Given the description of an element on the screen output the (x, y) to click on. 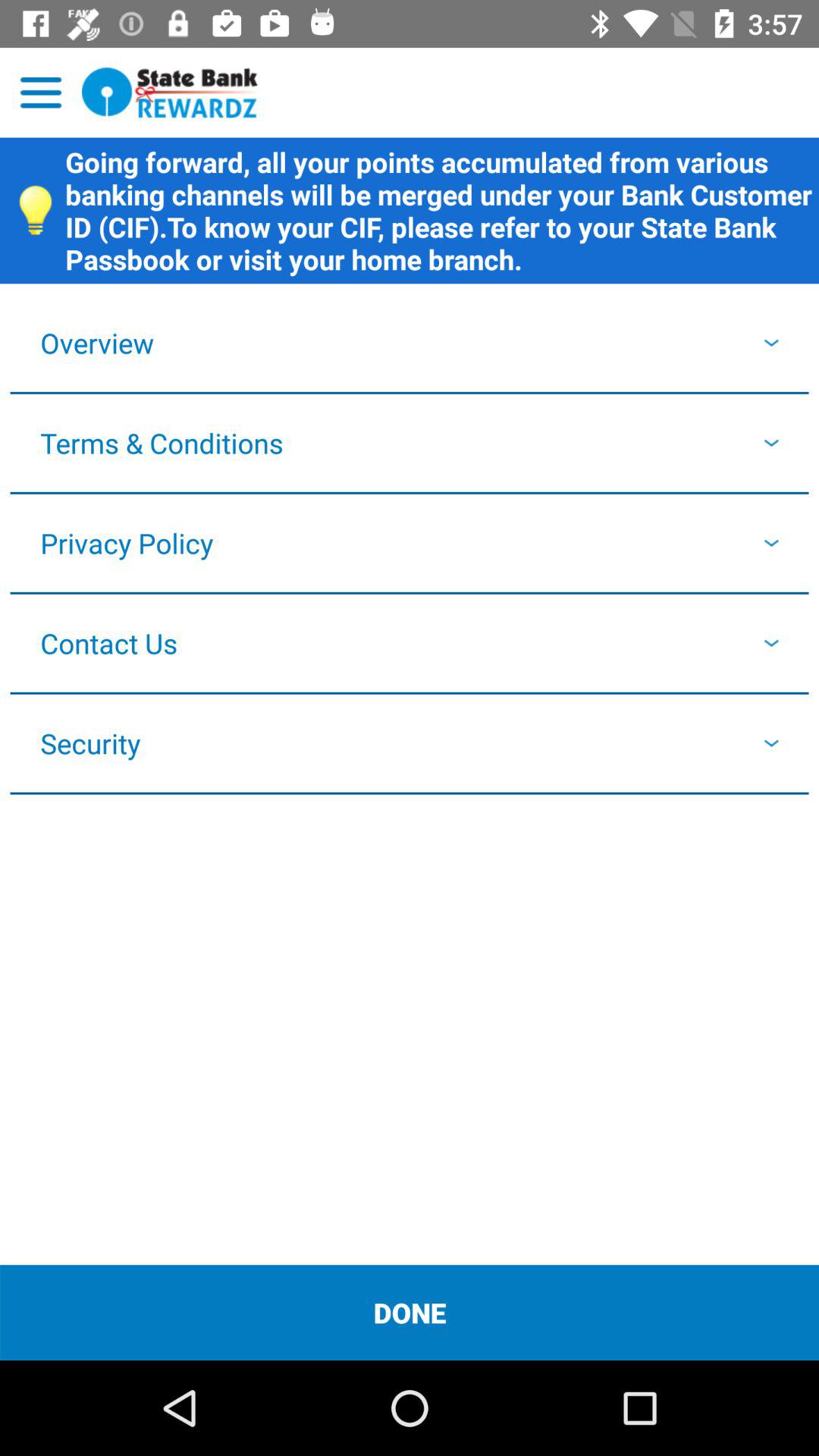
go to menu (40, 92)
